Given the description of an element on the screen output the (x, y) to click on. 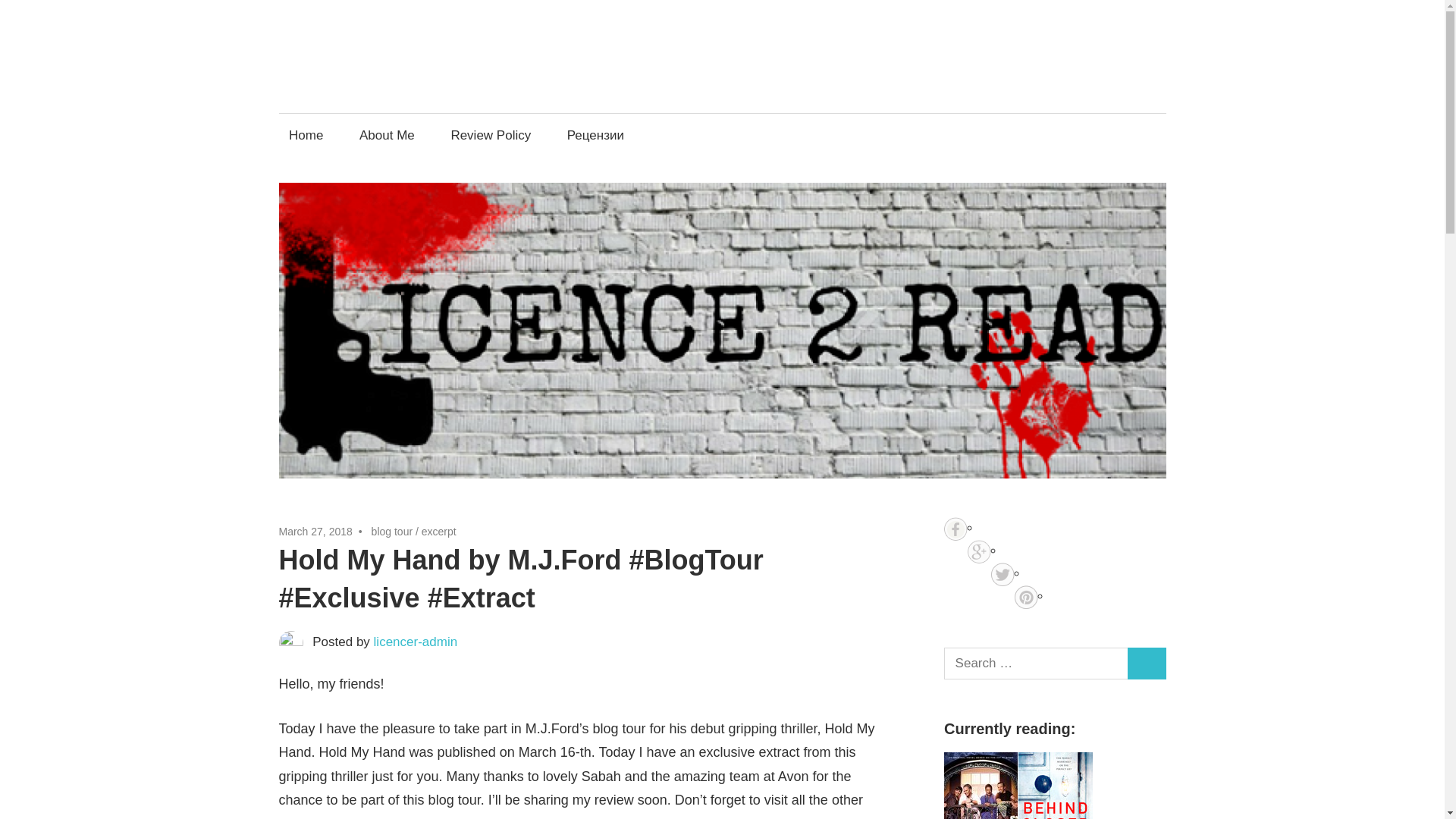
8:34 am (315, 531)
View all posts by licencer-admin (416, 641)
Search (1146, 663)
Search for: (1035, 663)
excerpt (439, 531)
Home (306, 135)
blog tour (391, 531)
About Me (387, 135)
March 27, 2018 (315, 531)
Review Policy (491, 135)
licencer-admin (416, 641)
